Given the description of an element on the screen output the (x, y) to click on. 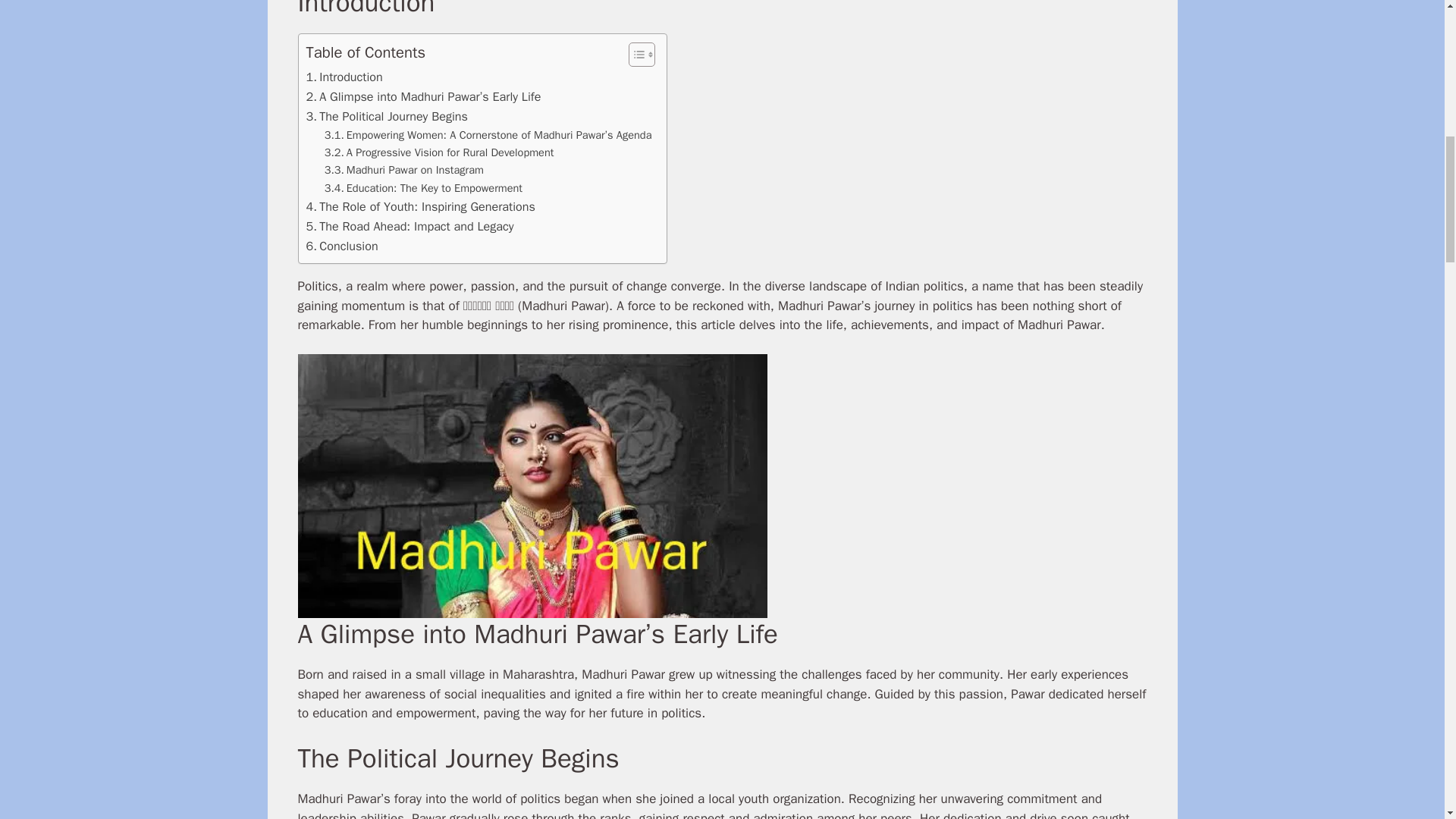
Conclusion (341, 246)
The Road Ahead: Impact and Legacy (409, 226)
The Road Ahead: Impact and Legacy (409, 226)
Education: The Key to Empowerment (423, 188)
Madhuri Pawar on Instagram (403, 170)
The Political Journey Begins (386, 116)
Introduction (343, 76)
The Role of Youth: Inspiring Generations (420, 207)
Conclusion (341, 246)
Education: The Key to Empowerment (423, 188)
Introduction (343, 76)
The Political Journey Begins (386, 116)
Madhuri Pawar on Instagram (403, 170)
A Progressive Vision for Rural Development (439, 152)
The Role of Youth: Inspiring Generations (420, 207)
